Given the description of an element on the screen output the (x, y) to click on. 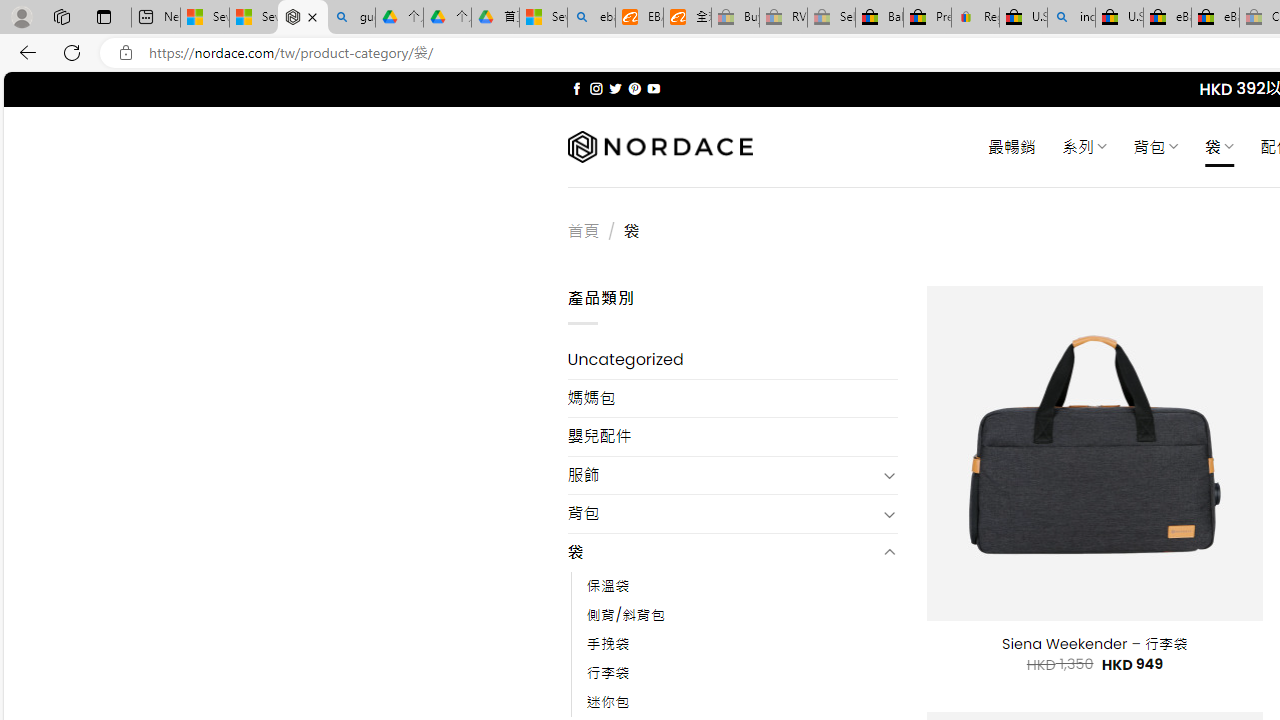
Nordace (659, 147)
Press Room - eBay Inc. (927, 17)
U.S. State Privacy Disclosures - eBay Inc. (1119, 17)
